Given the description of an element on the screen output the (x, y) to click on. 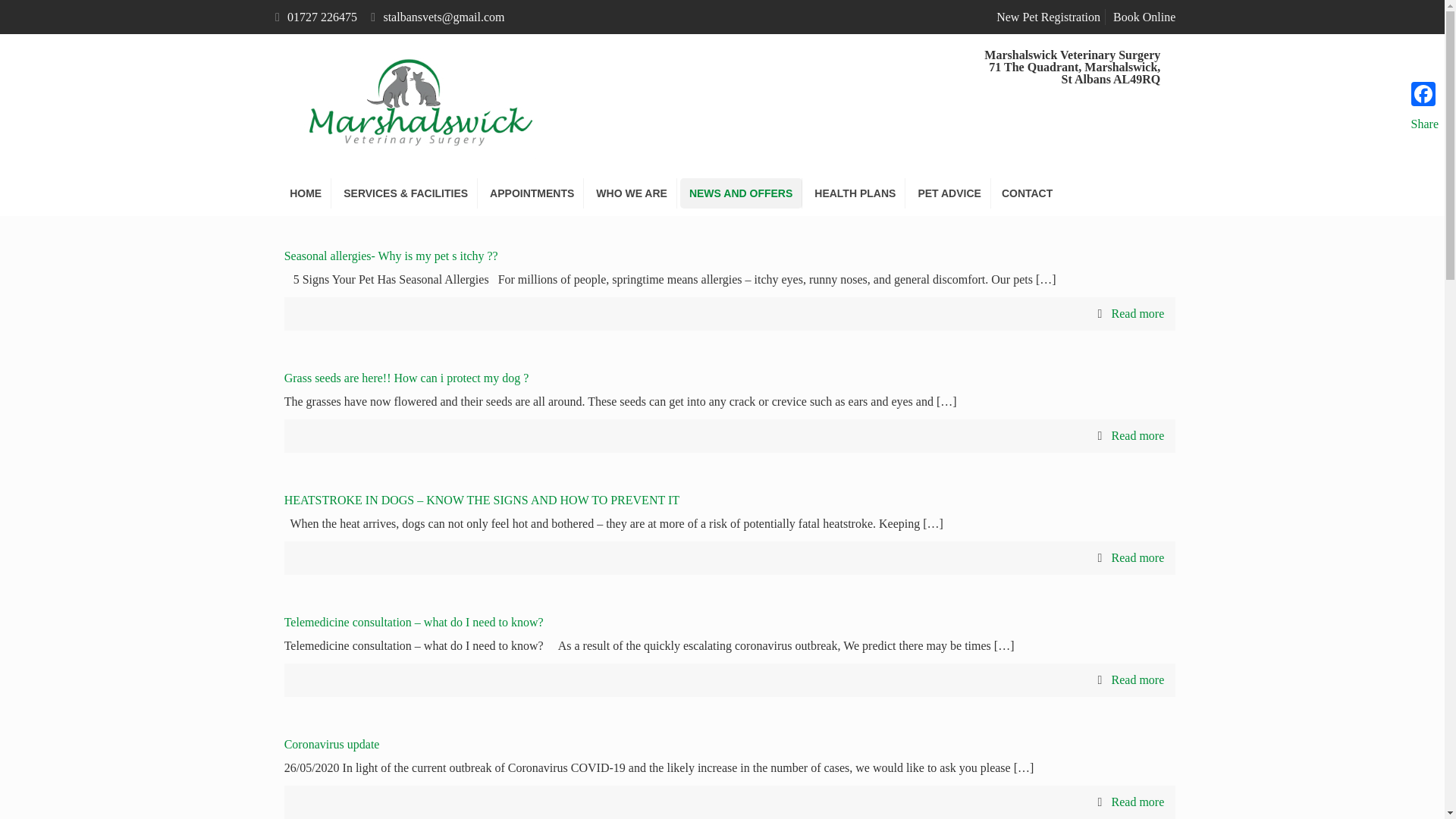
HOME (306, 193)
NEWS AND OFFERS (740, 193)
APPOINTMENTS (531, 193)
Facebook (1424, 93)
New Pet Registration (1047, 16)
01727 226475 (321, 16)
Marshalswick Veterinary Surgery (414, 102)
Book Online (1143, 16)
WHO WE ARE (631, 193)
HEALTH PLANS (855, 193)
